Given the description of an element on the screen output the (x, y) to click on. 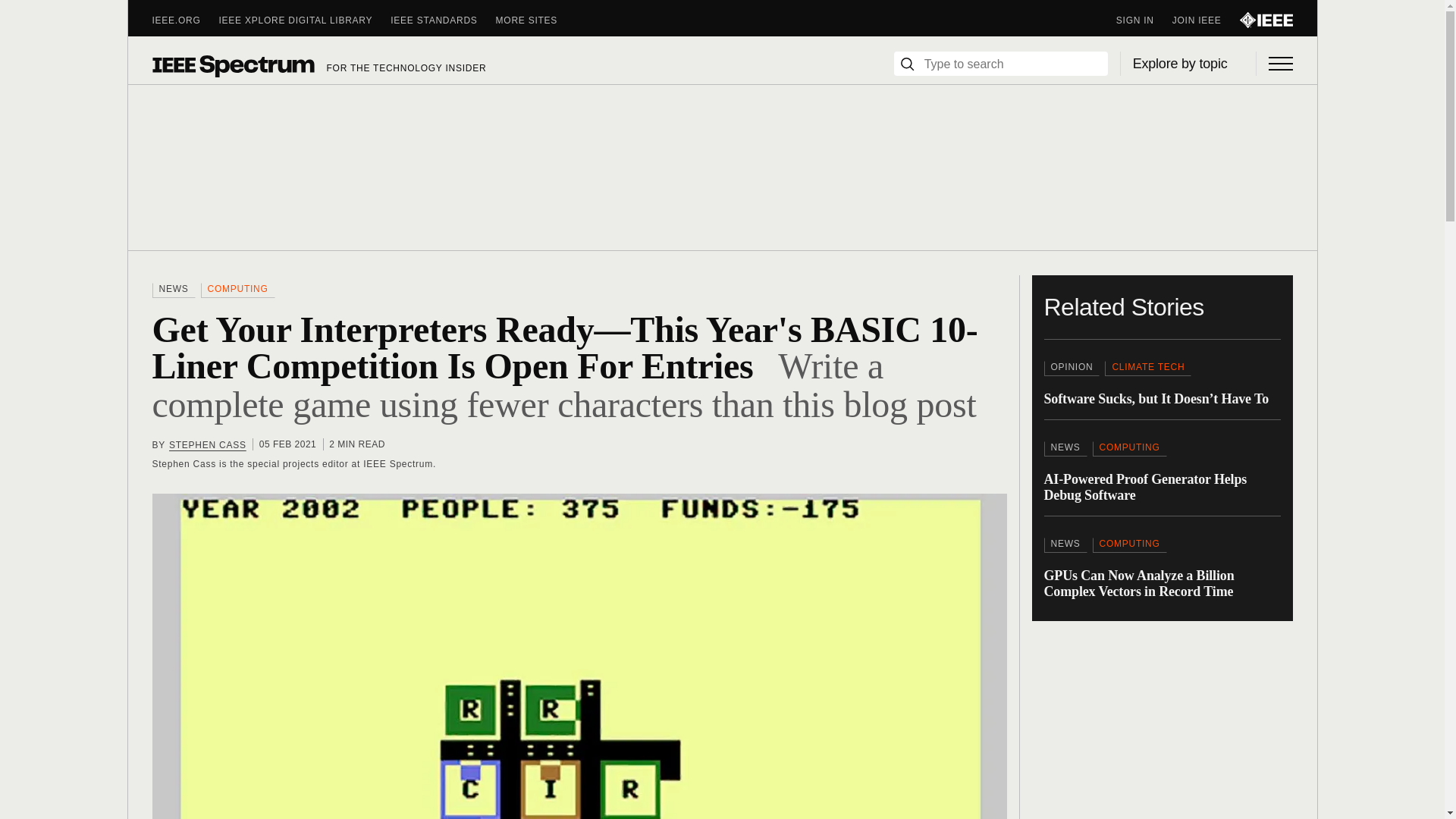
IEEE.ORG (184, 20)
IEEE STANDARDS (442, 20)
MORE SITES (536, 20)
Spectrum Logo (232, 64)
JOIN IEEE (1206, 20)
SIGN IN (1144, 20)
Search (907, 63)
IEEE XPLORE DIGITAL LIBRARY (305, 20)
